Given the description of an element on the screen output the (x, y) to click on. 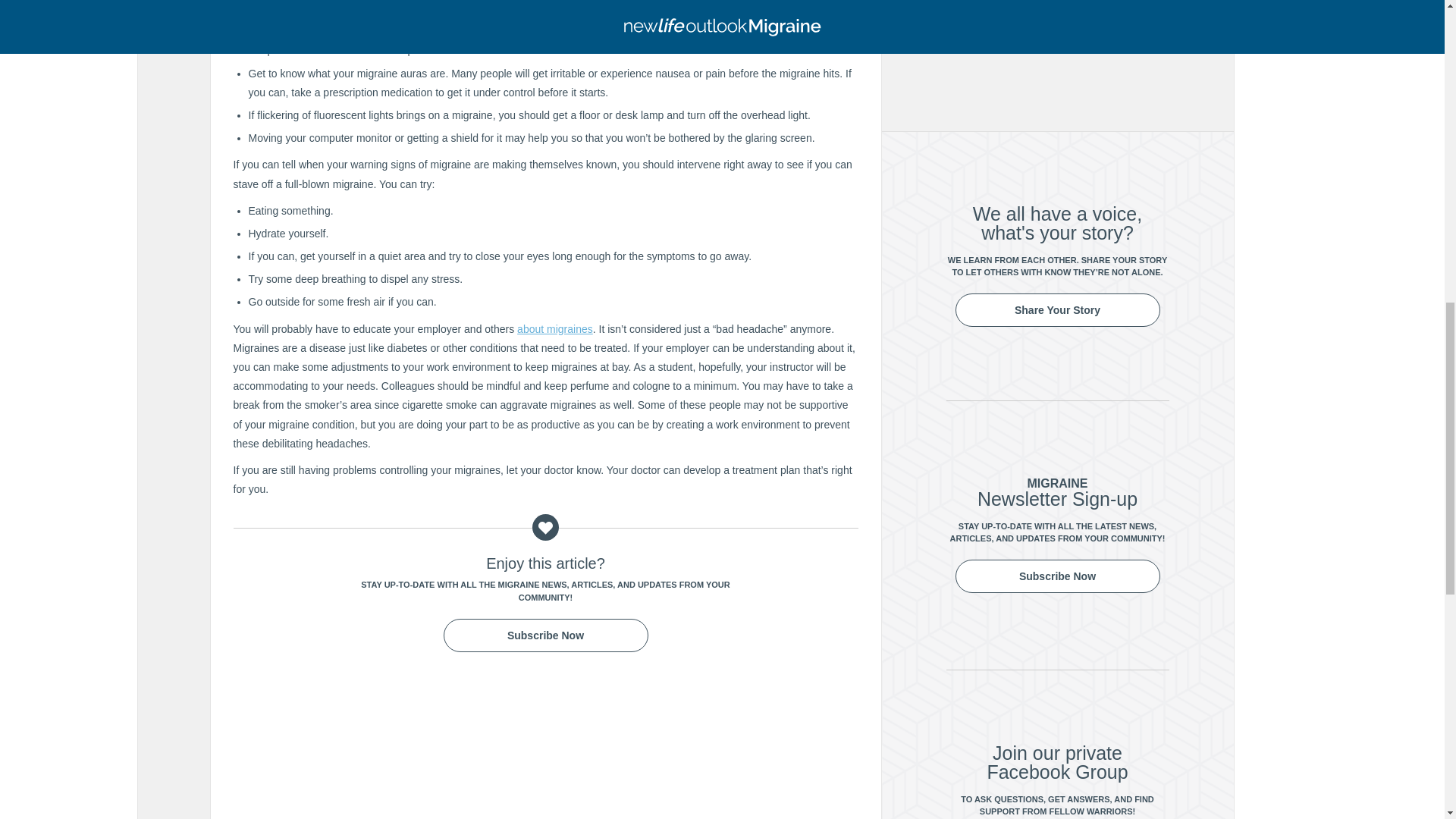
Share Your Story (1057, 309)
Subscribe Now (1057, 575)
about migraines (554, 328)
Subscribe Now (544, 635)
